Given the description of an element on the screen output the (x, y) to click on. 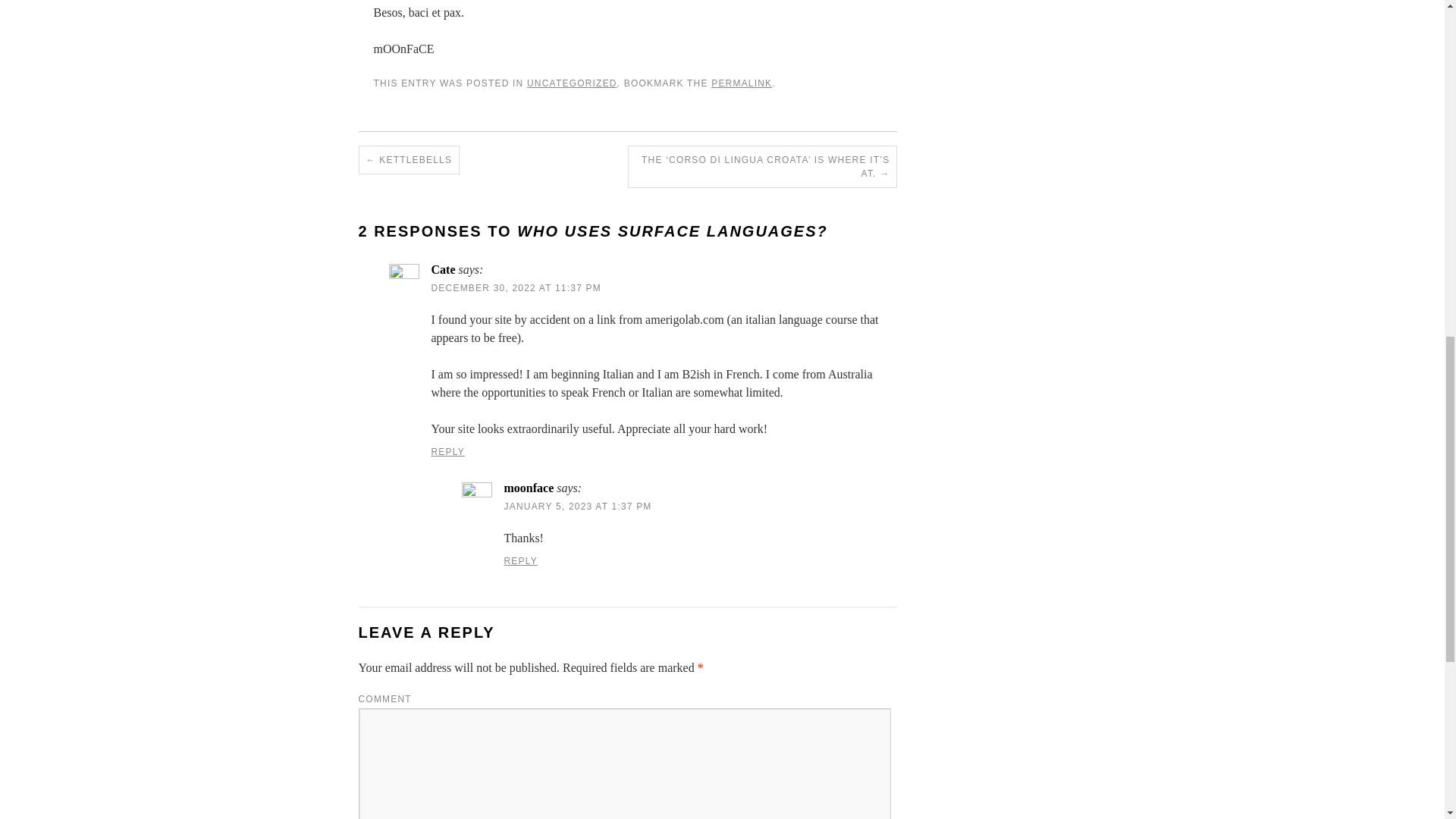
UNCATEGORIZED (572, 82)
REPLY (447, 451)
PERMALINK (741, 82)
DECEMBER 30, 2022 AT 11:37 PM (514, 287)
Permalink to Who uses Surface languages? (741, 82)
REPLY (520, 561)
JANUARY 5, 2023 AT 1:37 PM (576, 506)
